Given the description of an element on the screen output the (x, y) to click on. 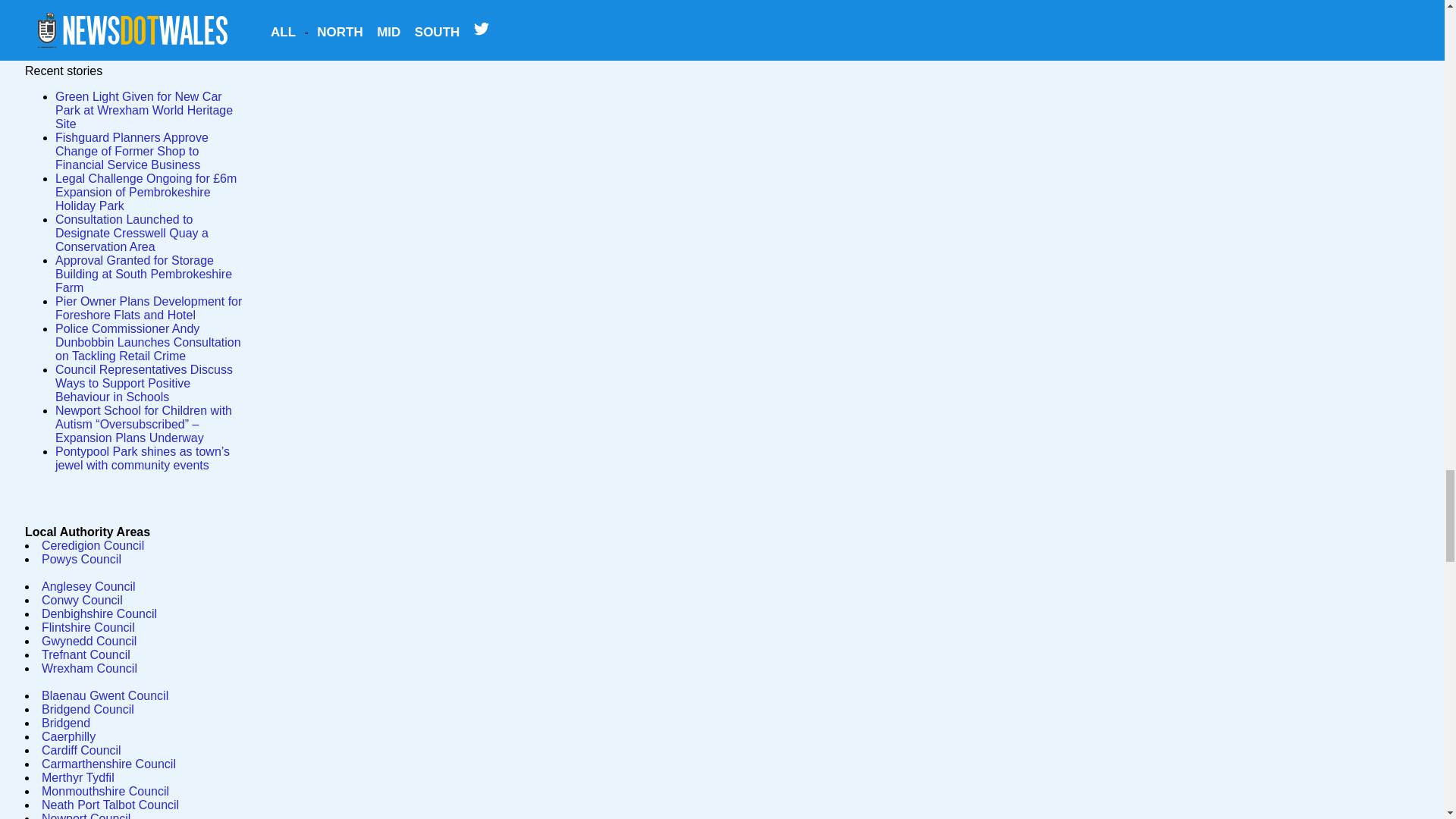
Last 100 headlines here... (99, 3)
Last 100 headlines here... (99, 4)
